Given the description of an element on the screen output the (x, y) to click on. 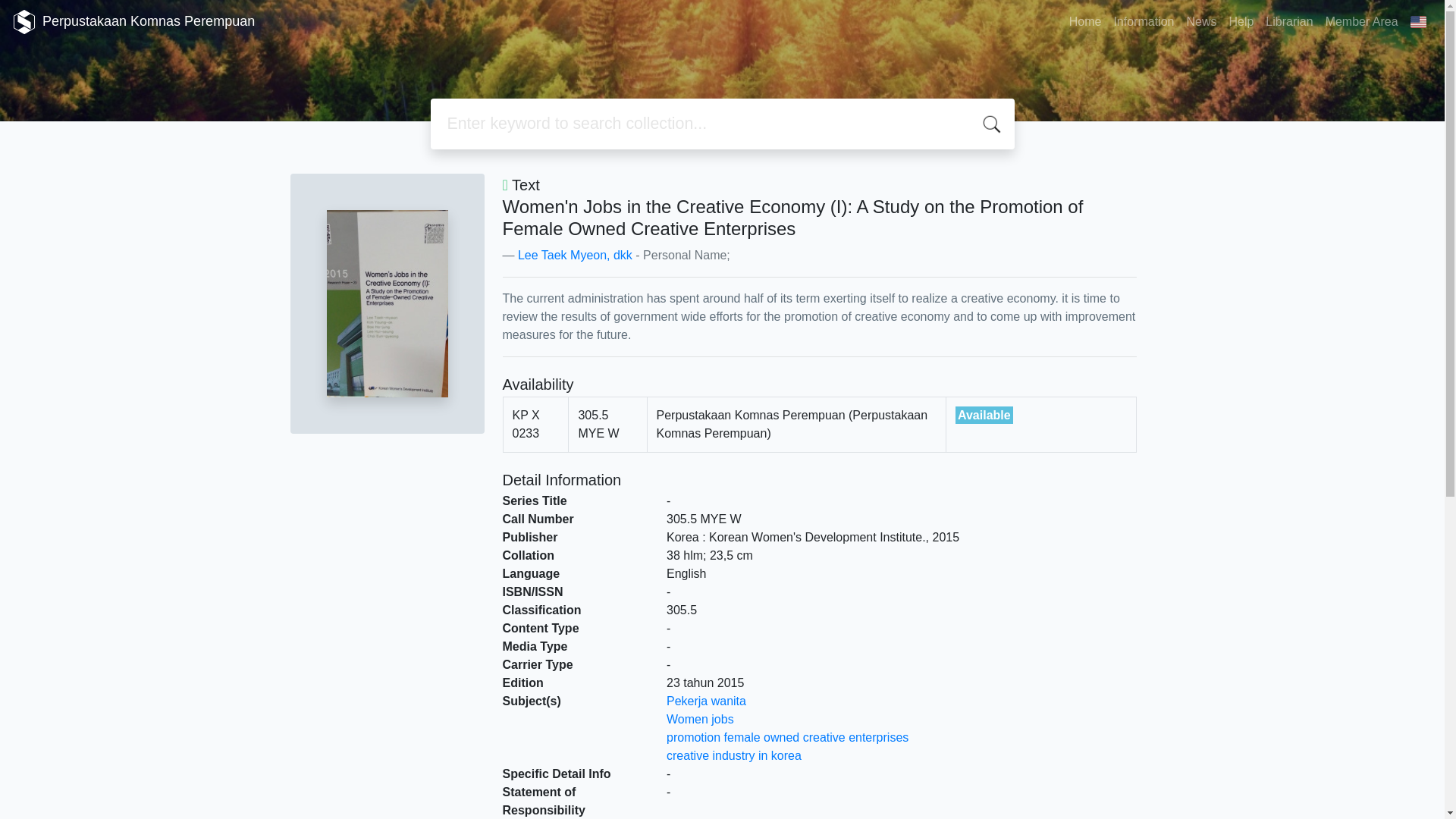
Pekerja wanita (705, 700)
Click to view others documents with this author (574, 254)
Librarian (1289, 21)
promotion female owned creative enterprises (787, 737)
Home (1085, 21)
Perpustakaan Komnas Perempuan (132, 21)
Click to view others documents with this subject (699, 718)
Help (1241, 21)
Click to view others documents with this subject (705, 700)
Lee Taek Myeon, dkk (574, 254)
